Given the description of an element on the screen output the (x, y) to click on. 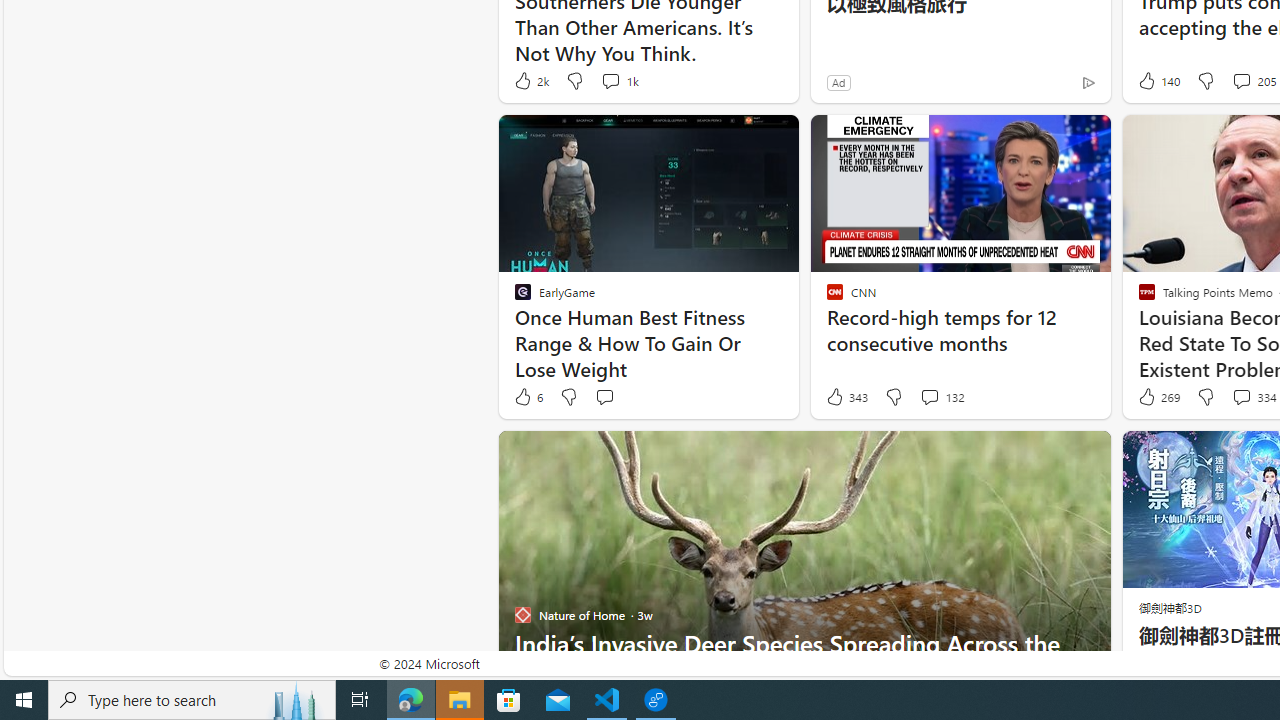
View comments 1k Comment (618, 80)
View comments 334 Comment (1241, 396)
View comments 205 Comment (1241, 80)
View comments 132 Comment (941, 397)
